Given the description of an element on the screen output the (x, y) to click on. 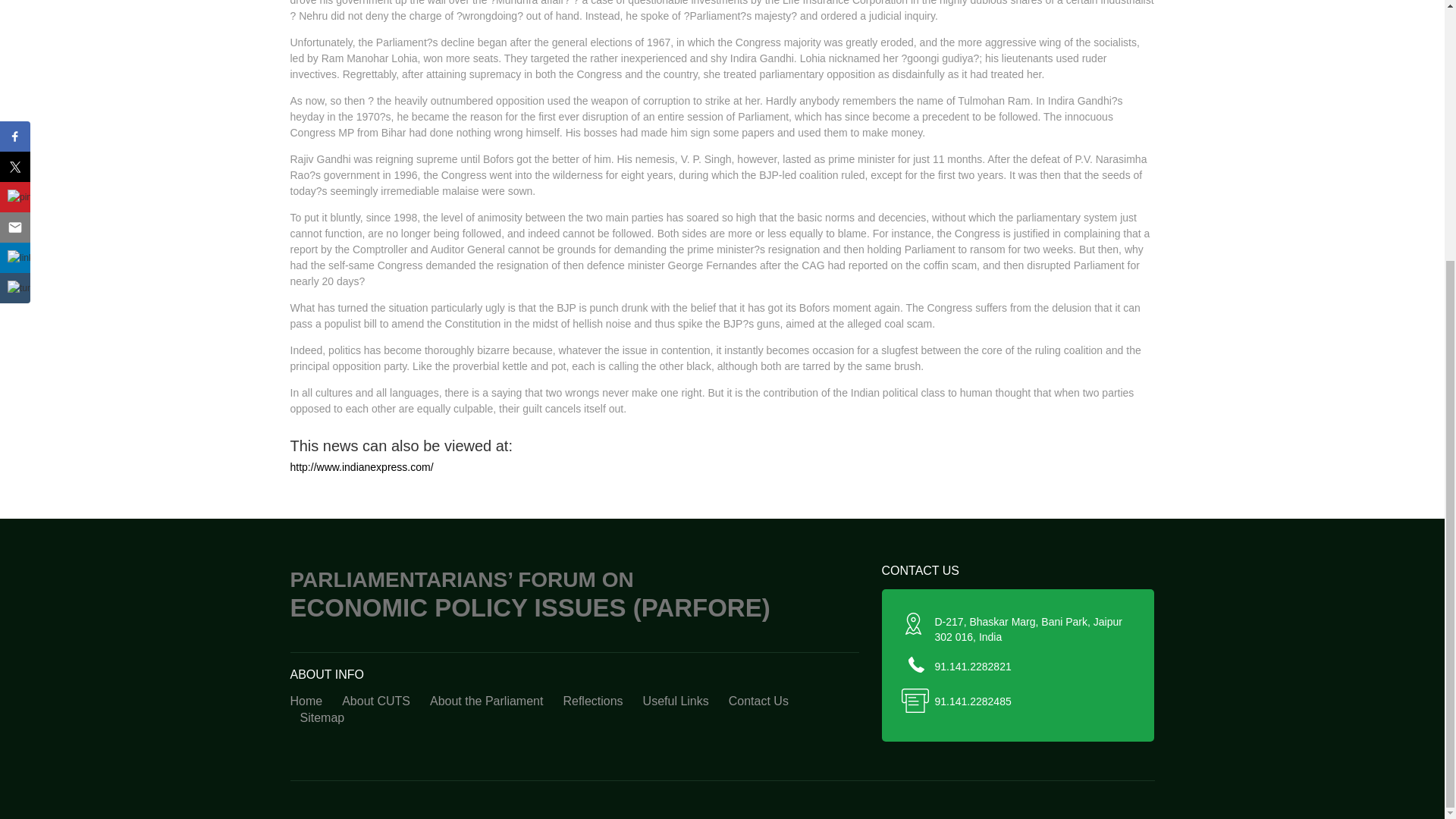
Reflections (592, 701)
Sitemap (321, 718)
Home (310, 701)
Useful Links (676, 701)
About the Parliament (486, 701)
About CUTS (375, 701)
Contact Us (758, 701)
